Given the description of an element on the screen output the (x, y) to click on. 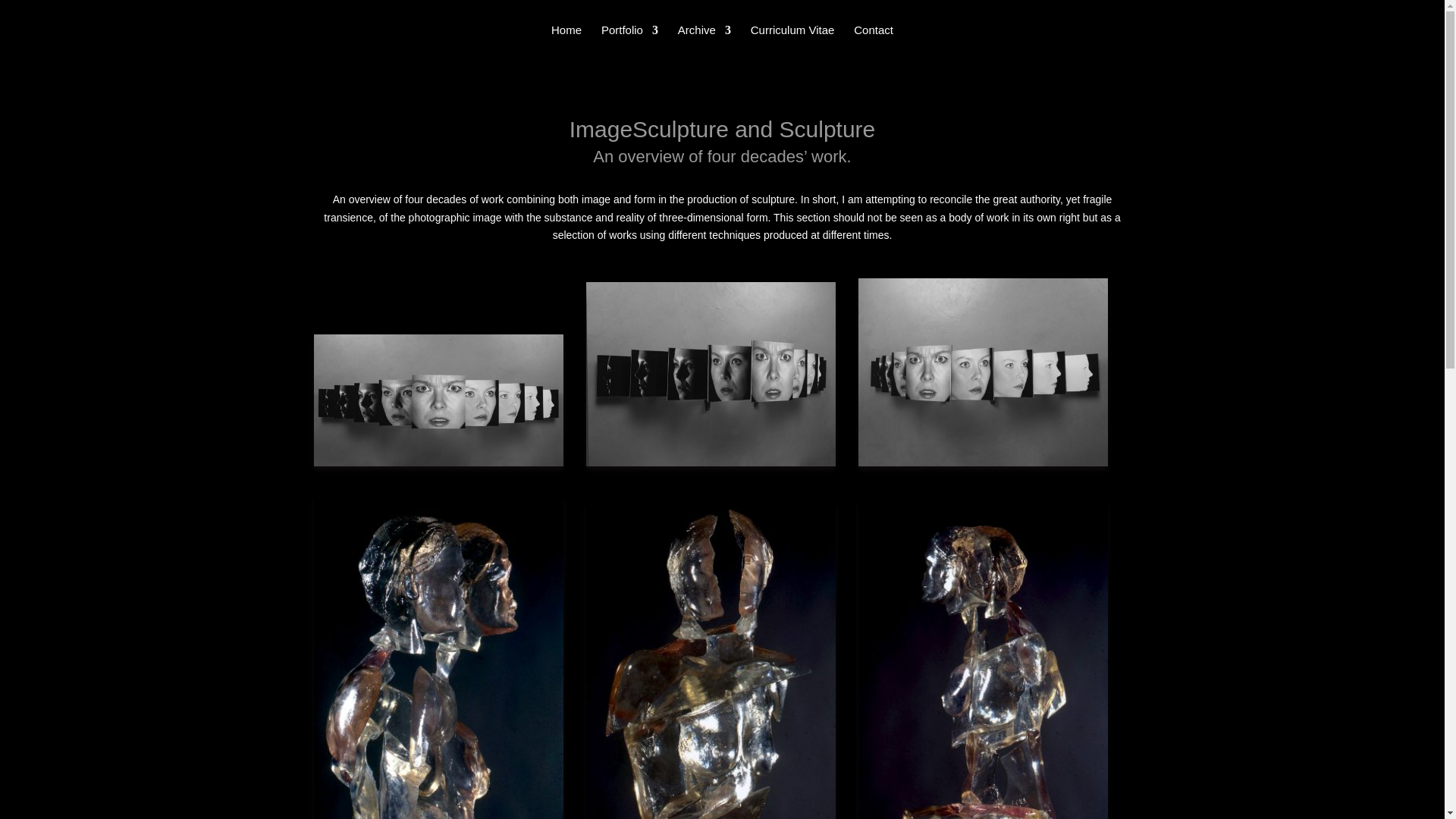
"Look Not into the Sun" front (438, 400)
Archive (704, 41)
Contact (873, 41)
"Look Not into the Sun" front (438, 400)
Portfolio (629, 41)
Curriculum Vitae (792, 41)
Home (565, 41)
